Given the description of an element on the screen output the (x, y) to click on. 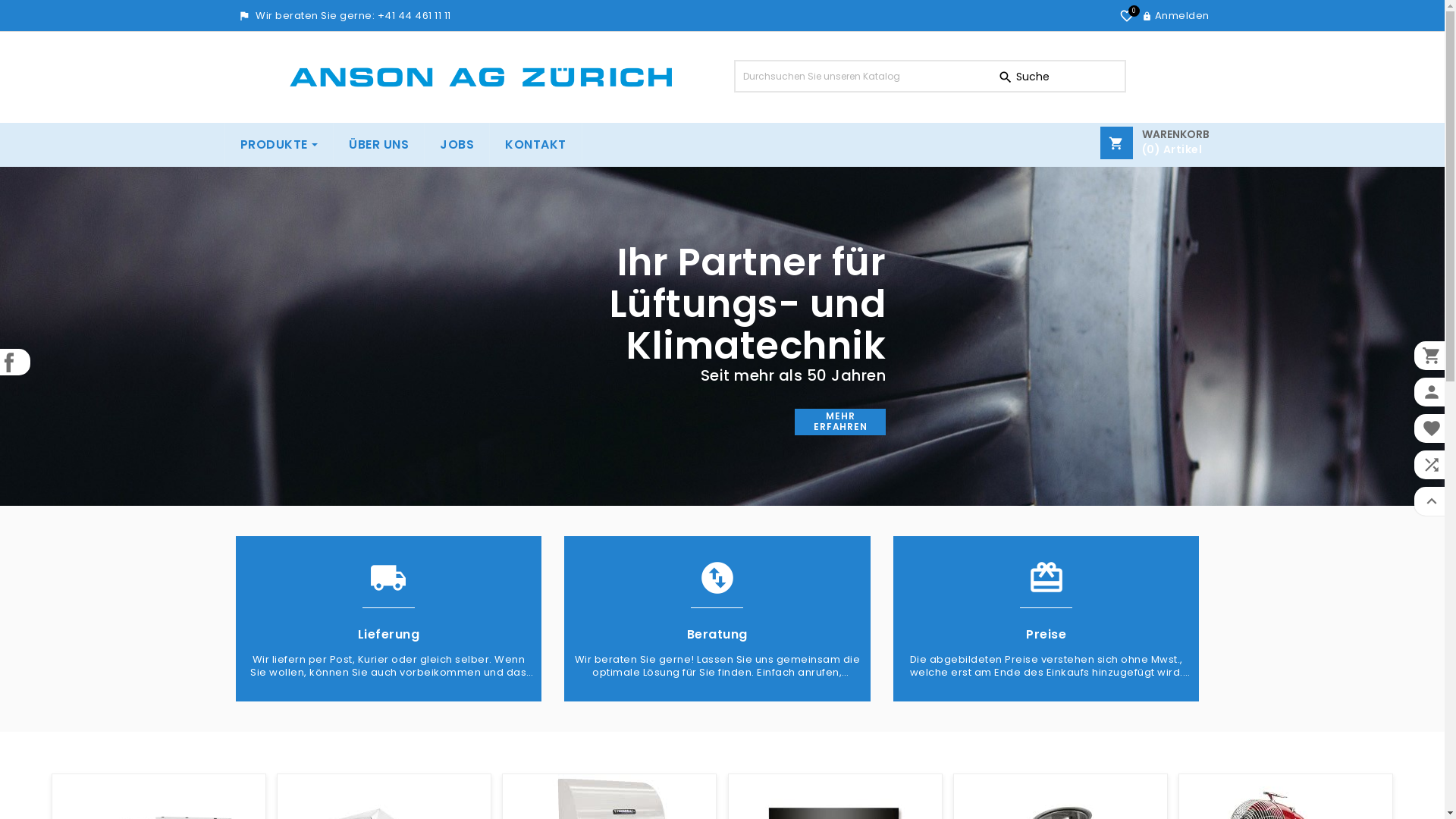
MEHR ERFAHREN Element type: text (839, 421)
PRODUKTE Element type: text (278, 144)
JOBS Element type: text (456, 144)
KONTAKT Element type: text (535, 144)
